Given the description of an element on the screen output the (x, y) to click on. 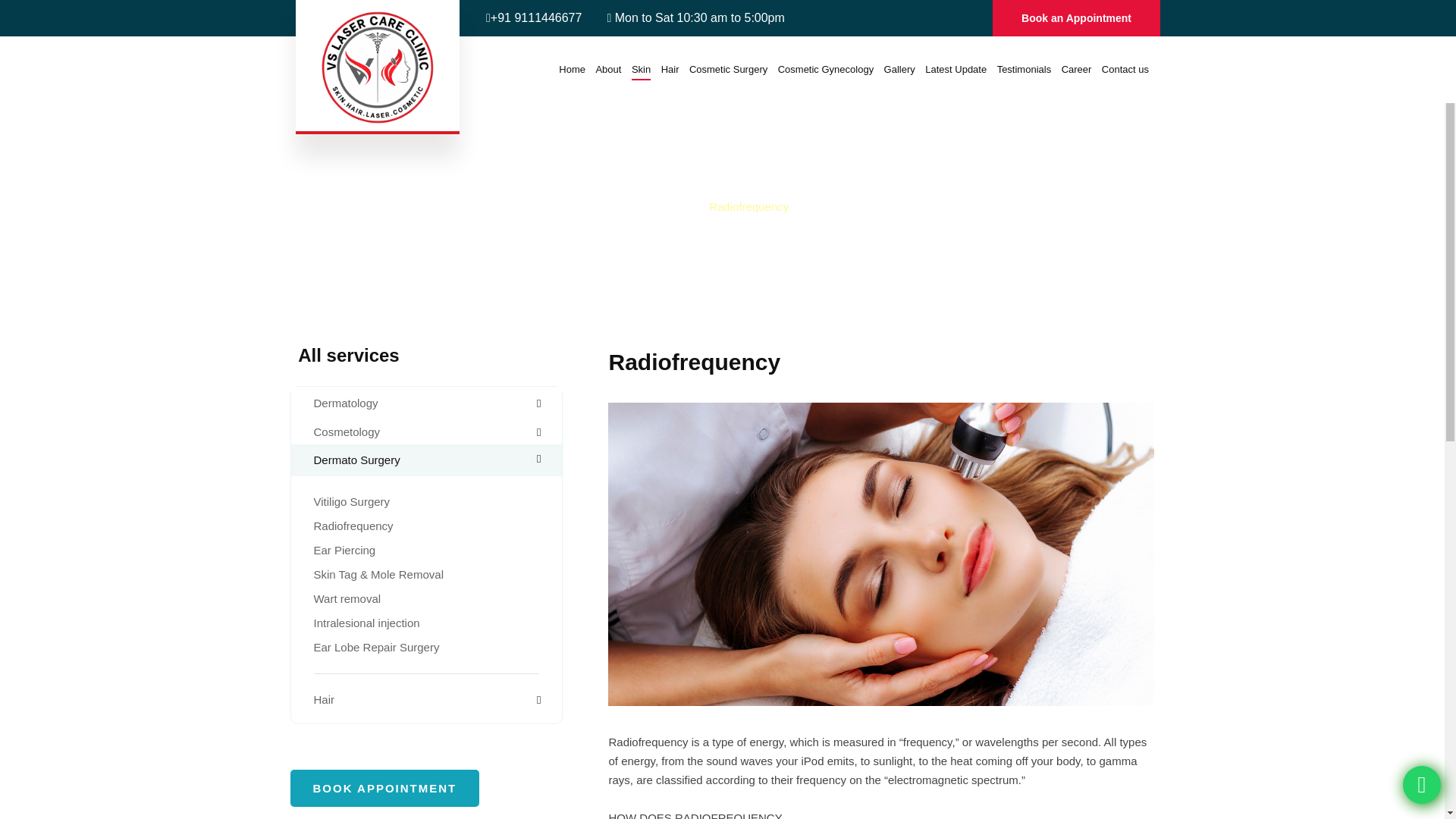
Cosmetic Gynecology (825, 69)
Contact us (1125, 69)
Book an Appointment (1076, 18)
Cosmetic Surgery (727, 69)
Dermatology (346, 402)
Home (572, 69)
Latest Update (955, 69)
Cosmetology (347, 431)
About (608, 69)
Career (1076, 69)
Gallery (899, 69)
Home (670, 207)
Testimonials (1024, 69)
Skin (640, 69)
